Given the description of an element on the screen output the (x, y) to click on. 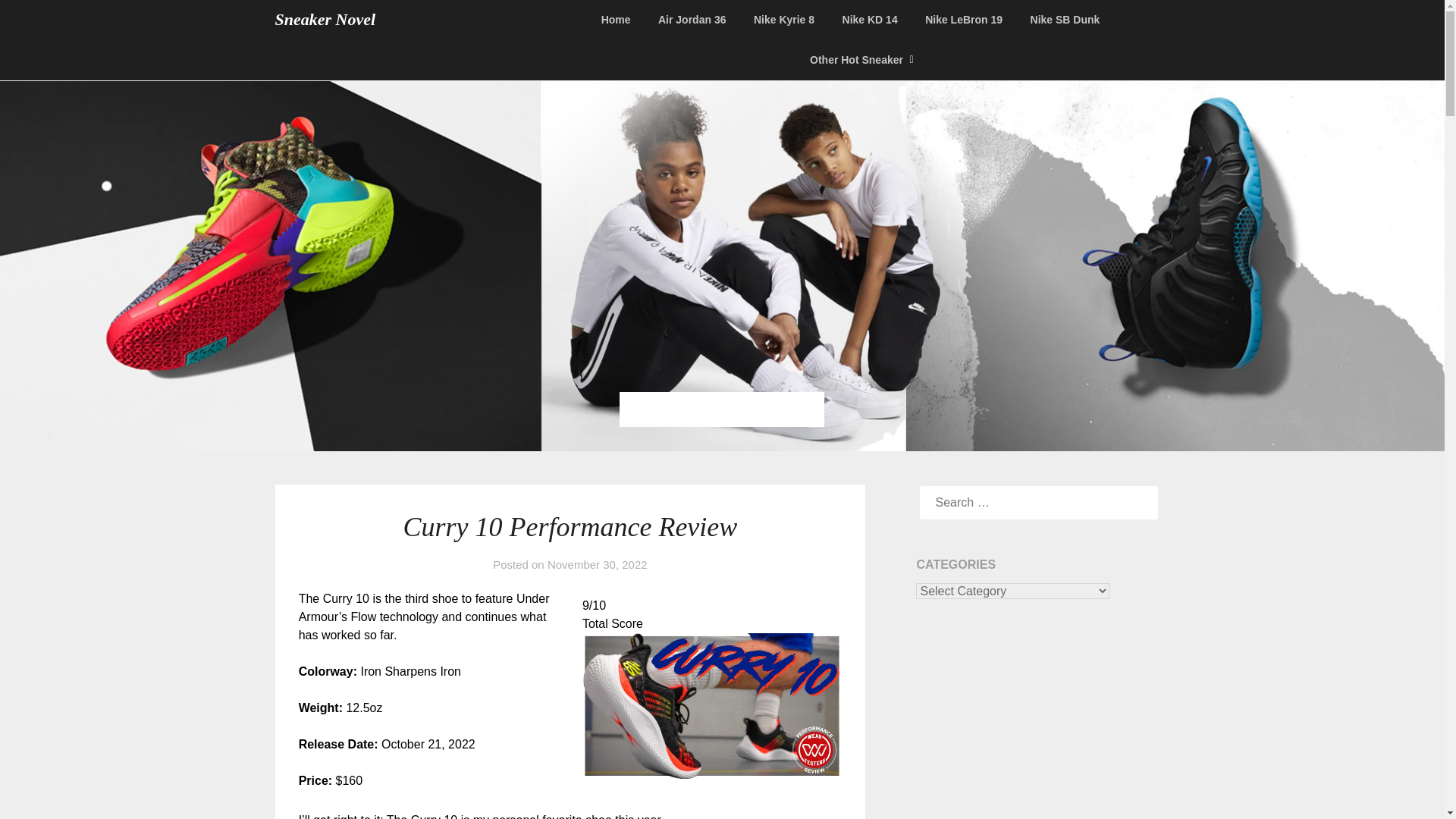
Air Jordan 36 (692, 20)
Nike Kyrie 8 (784, 20)
Search (38, 22)
Nike SB Dunk (1064, 20)
Home (622, 20)
November 30, 2022 (597, 563)
Nike KD 14 (869, 20)
Sneaker Novel (325, 19)
Nike LeBron 19 (963, 20)
Other Hot Sneaker (856, 60)
